Given the description of an element on the screen output the (x, y) to click on. 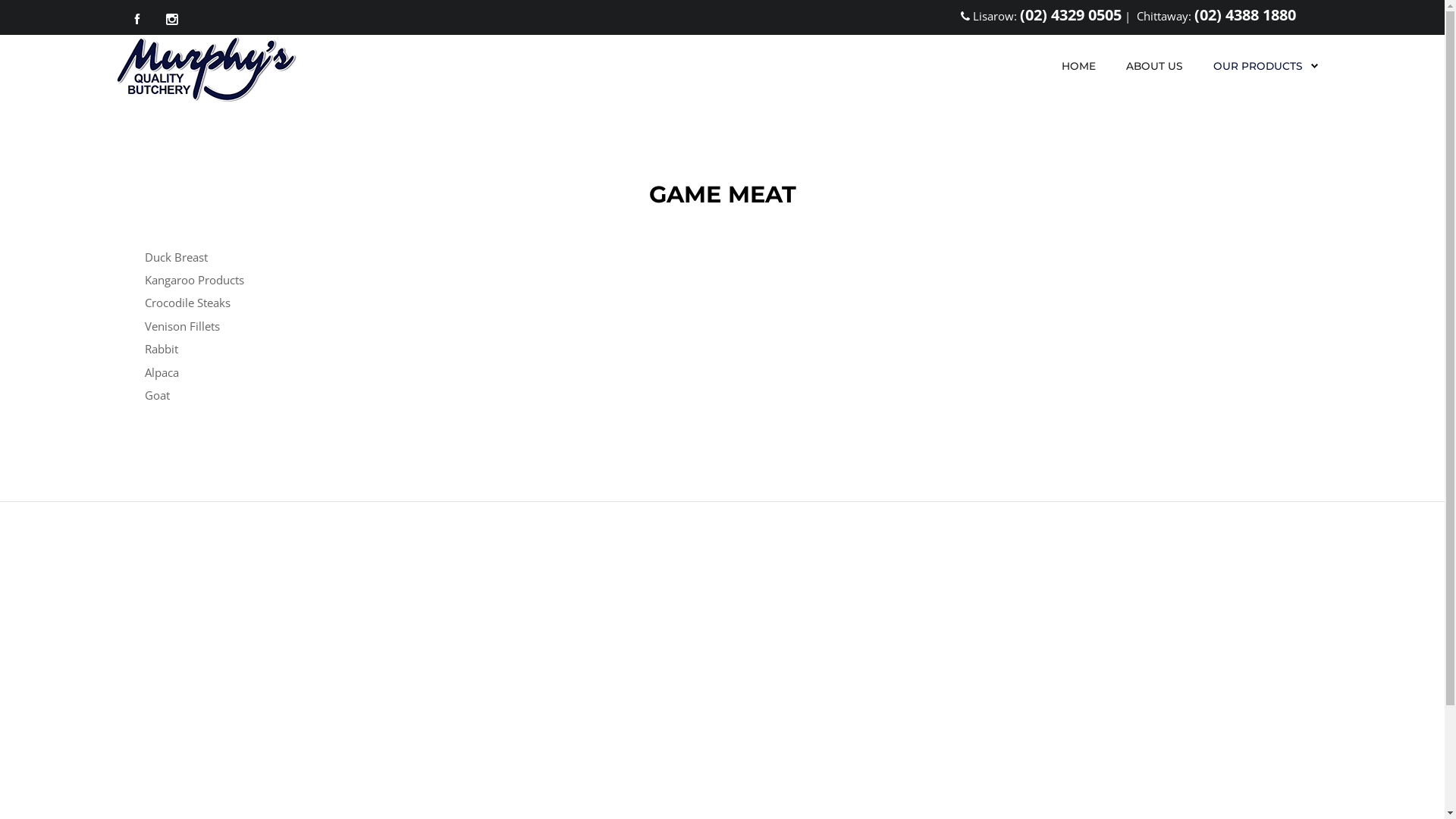
(02) 4329 0505 Element type: text (1069, 14)
HOME Element type: text (1078, 65)
ABOUT US Element type: text (1153, 65)
ABOUT US Element type: text (1153, 65)
OUR PRODUCTS Element type: text (1257, 65)
OUR PRODUCTS Element type: text (1265, 65)
(02) 4388 1880 Element type: text (1244, 14)
HOME Element type: text (1078, 65)
